Given the description of an element on the screen output the (x, y) to click on. 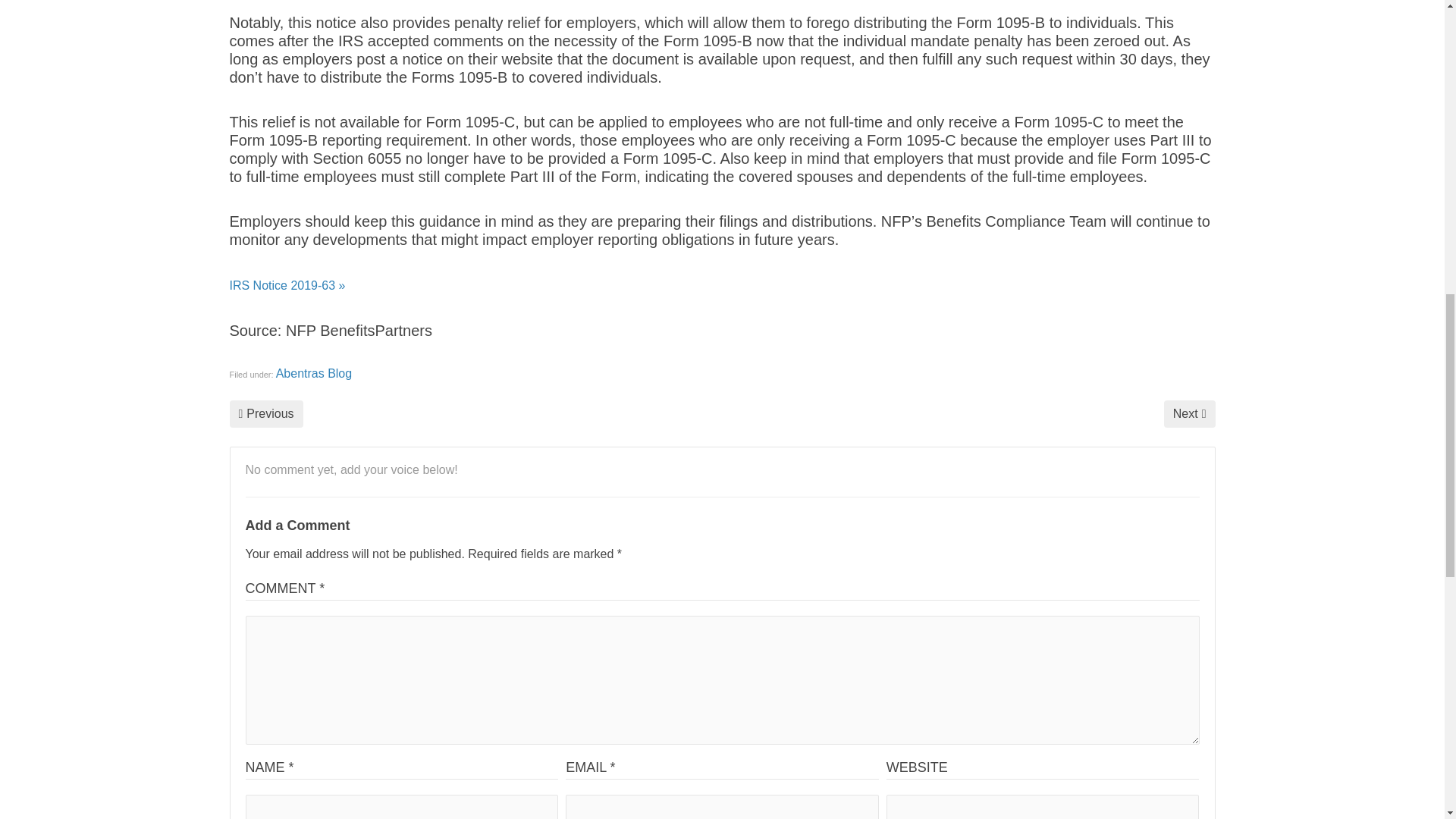
Abentras Blog (314, 373)
IRS Releases Draft Instructions for 2019 ACA Reporting Forms (265, 413)
Previous (265, 413)
Next (1189, 413)
